Given the description of an element on the screen output the (x, y) to click on. 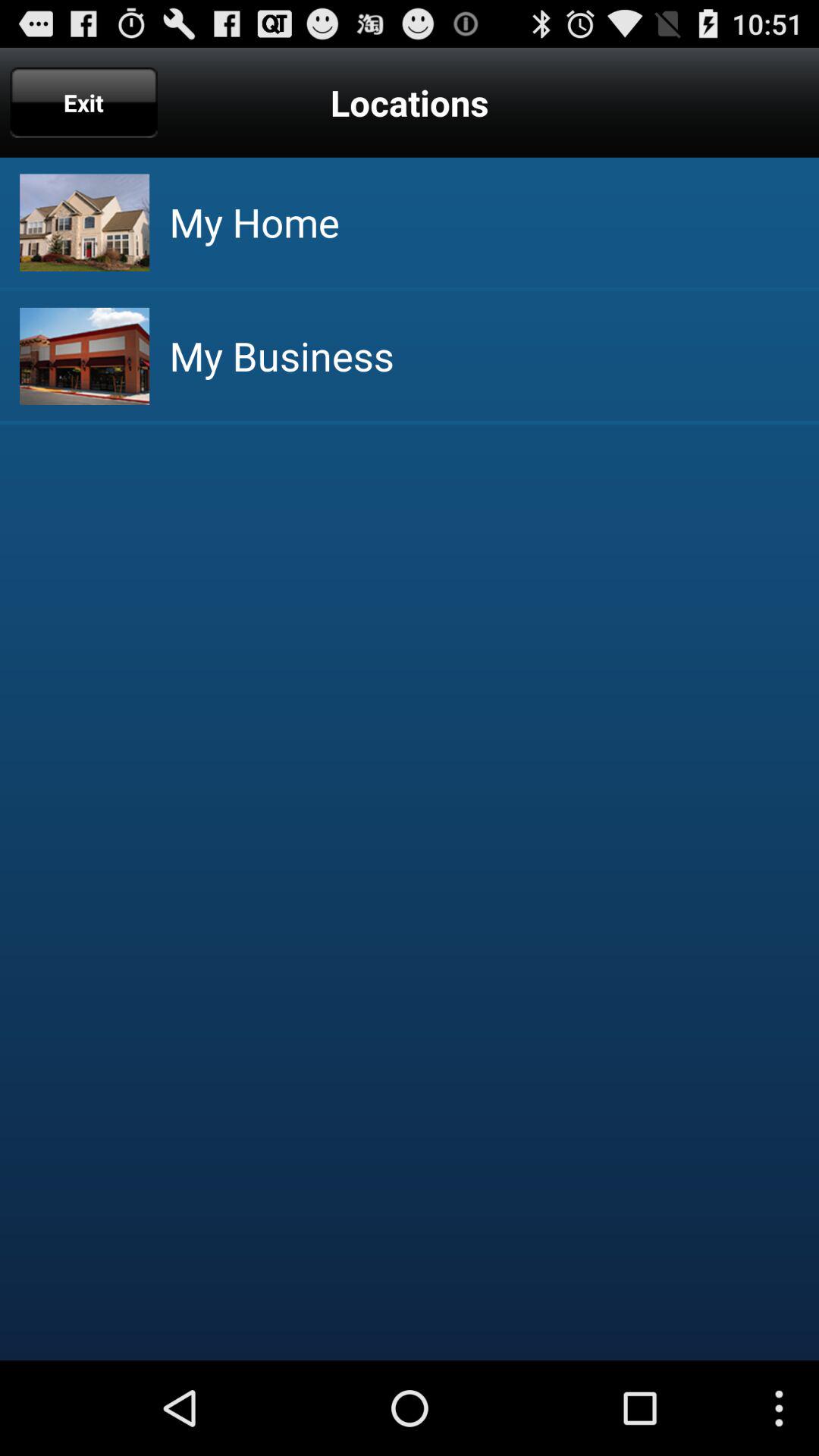
launch the my business (281, 355)
